Given the description of an element on the screen output the (x, y) to click on. 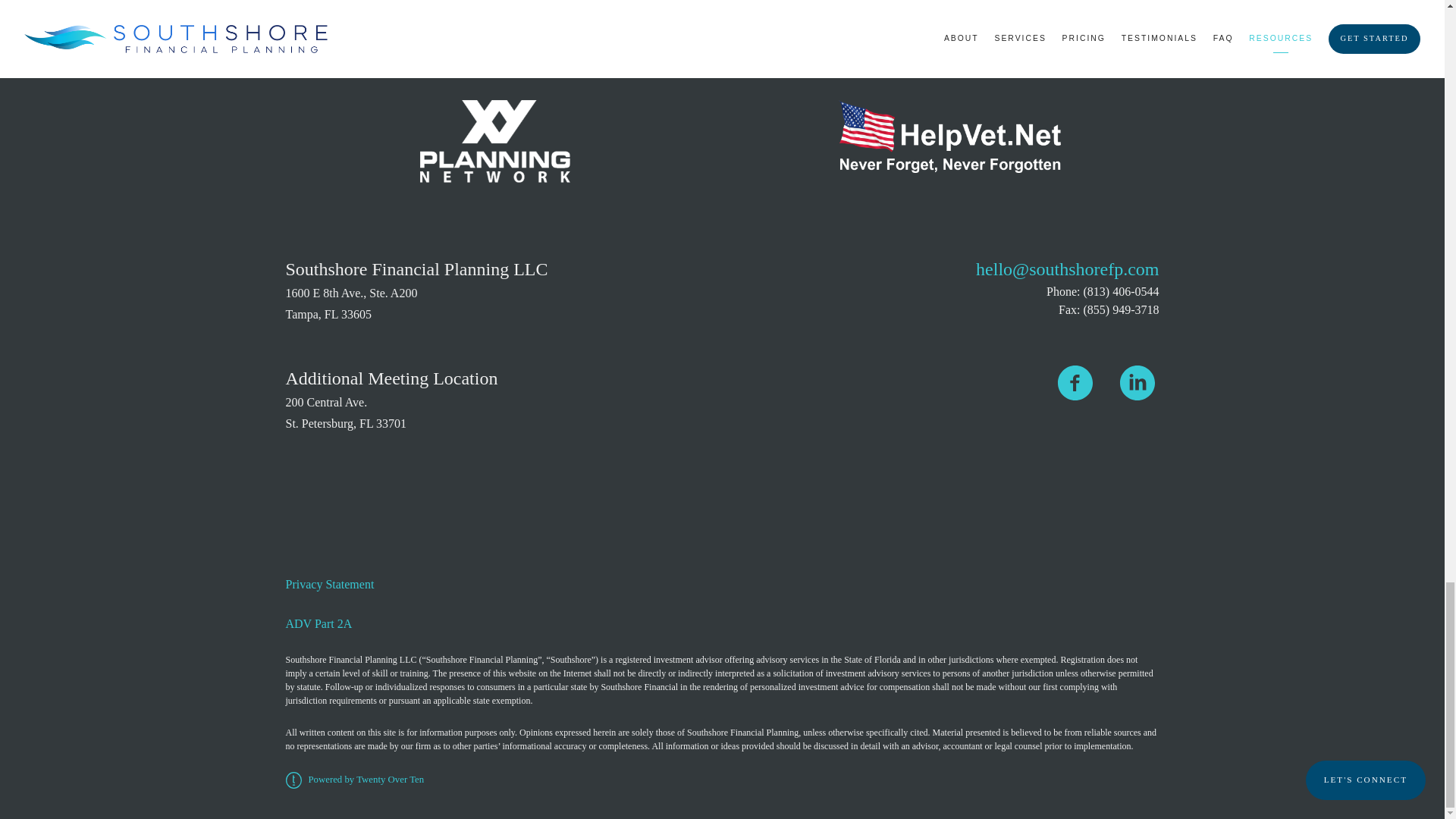
ADV Part 2A (318, 623)
Privacy Statement (329, 584)
Powered by Twenty Over Ten (354, 778)
